Given the description of an element on the screen output the (x, y) to click on. 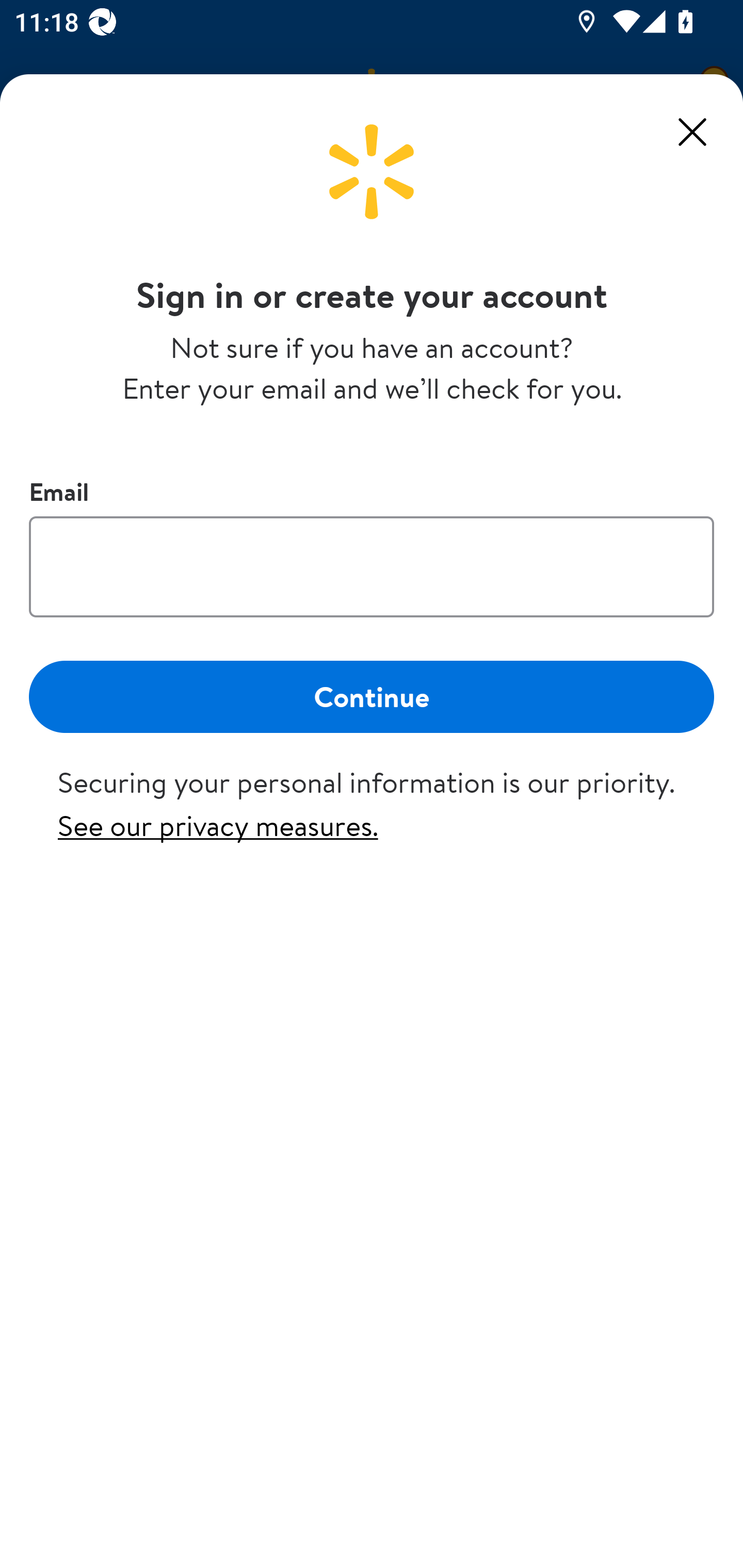
Close (692, 131)
Email (371, 566)
Continue (371, 696)
